Given the description of an element on the screen output the (x, y) to click on. 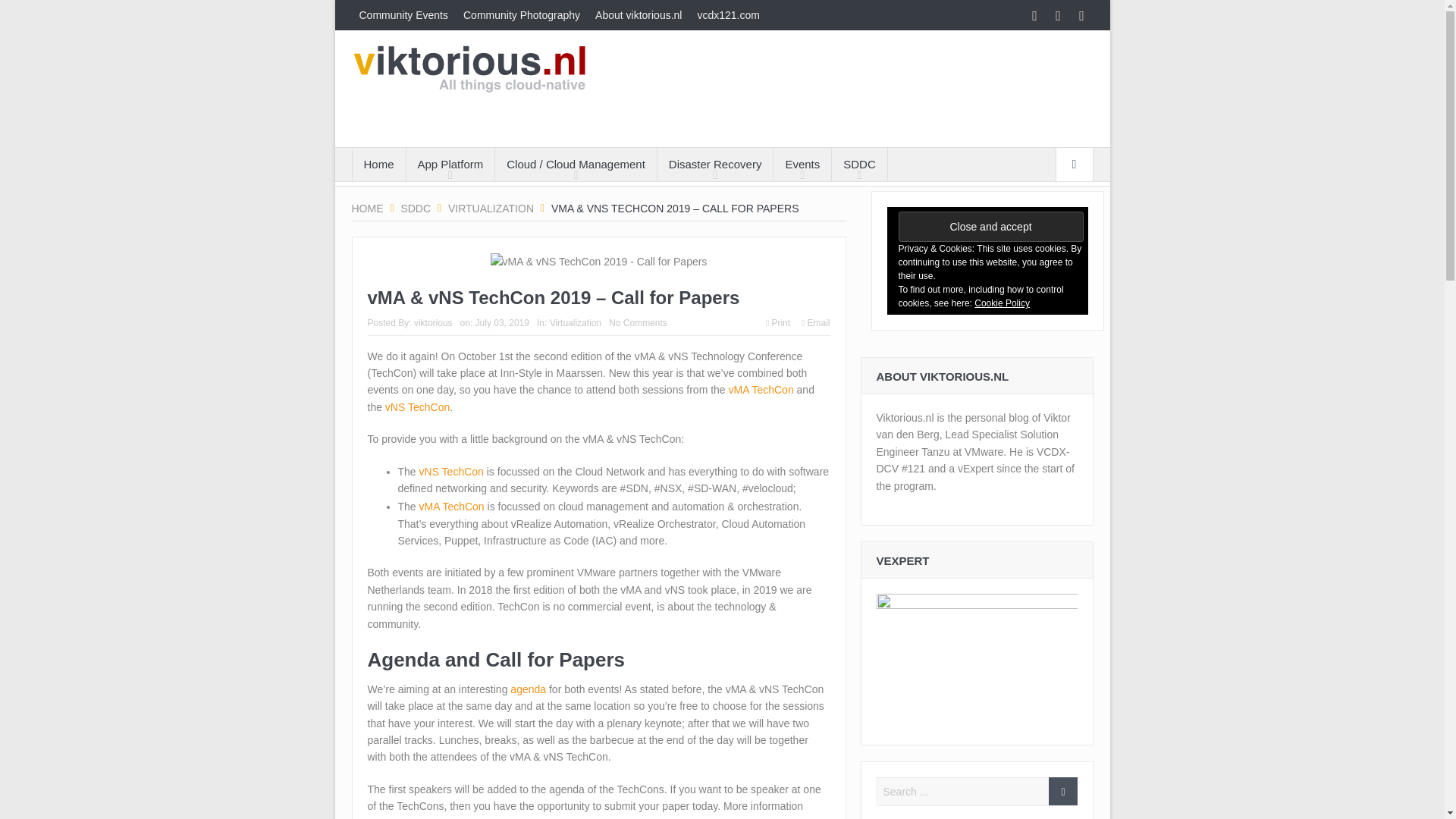
vExpert (976, 661)
Virtualization (491, 208)
Community Events (403, 15)
About viktorious.nl (638, 15)
View all posts in Virtualization (575, 322)
Community Photography (521, 15)
vcdx121.com (727, 15)
Everything VMworld, VMUG, AWS Summit and more! (802, 164)
Close and accept (990, 226)
SDDC (415, 208)
